Given the description of an element on the screen output the (x, y) to click on. 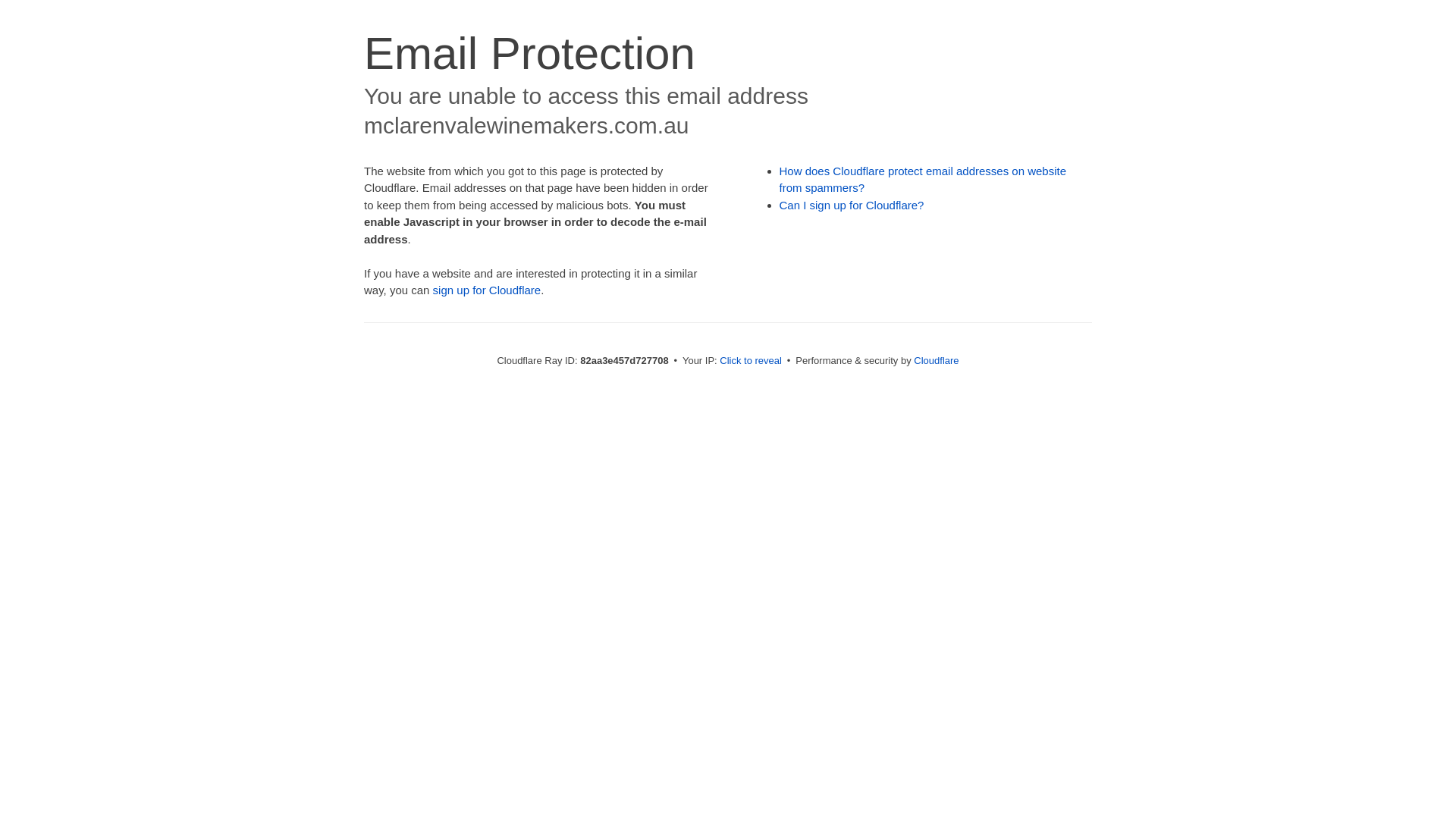
Can I sign up for Cloudflare? Element type: text (851, 204)
sign up for Cloudflare Element type: text (487, 289)
Cloudflare Element type: text (935, 360)
Click to reveal Element type: text (750, 360)
